Given the description of an element on the screen output the (x, y) to click on. 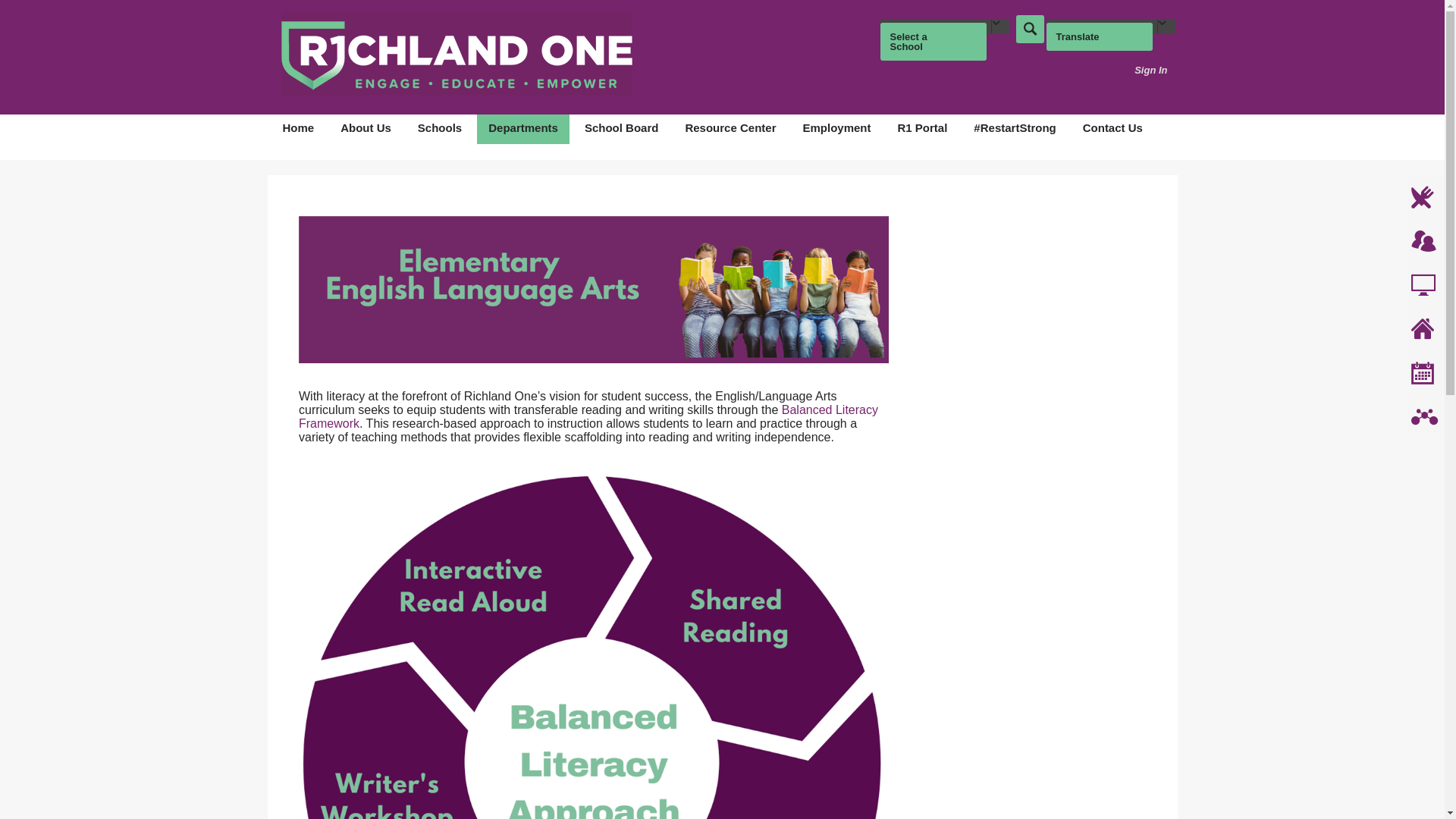
Richland County School District One (456, 53)
